Given the description of an element on the screen output the (x, y) to click on. 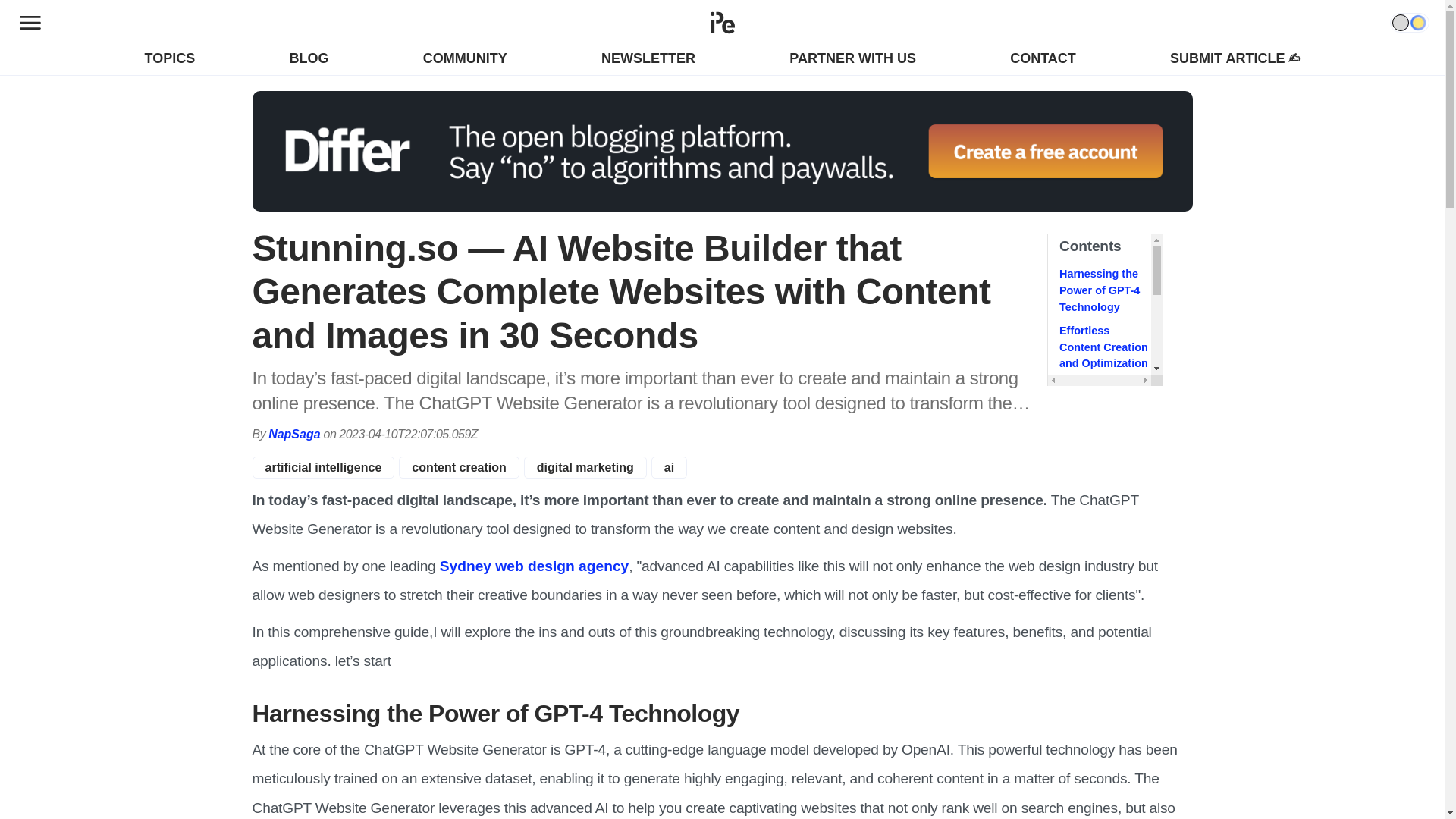
TOPICS (169, 58)
PARTNER WITH US (852, 58)
COMMUNITY (464, 58)
NEWSLETTER (648, 58)
CONTACT (1042, 58)
BLOG (308, 58)
